Given the description of an element on the screen output the (x, y) to click on. 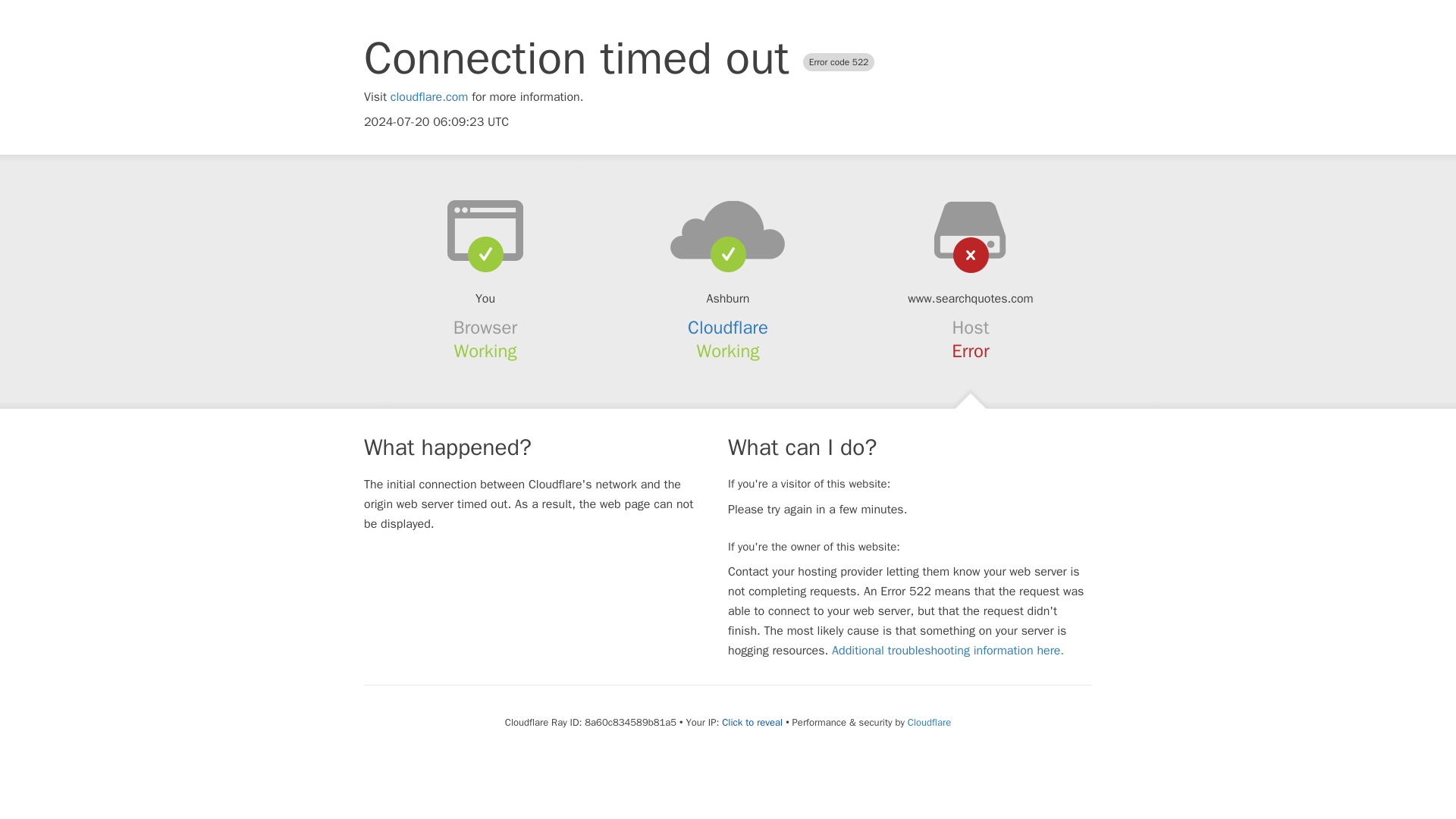
Additional troubleshooting information here. (947, 650)
Cloudflare (727, 327)
Cloudflare (928, 721)
cloudflare.com (429, 96)
Click to reveal (752, 722)
